Given the description of an element on the screen output the (x, y) to click on. 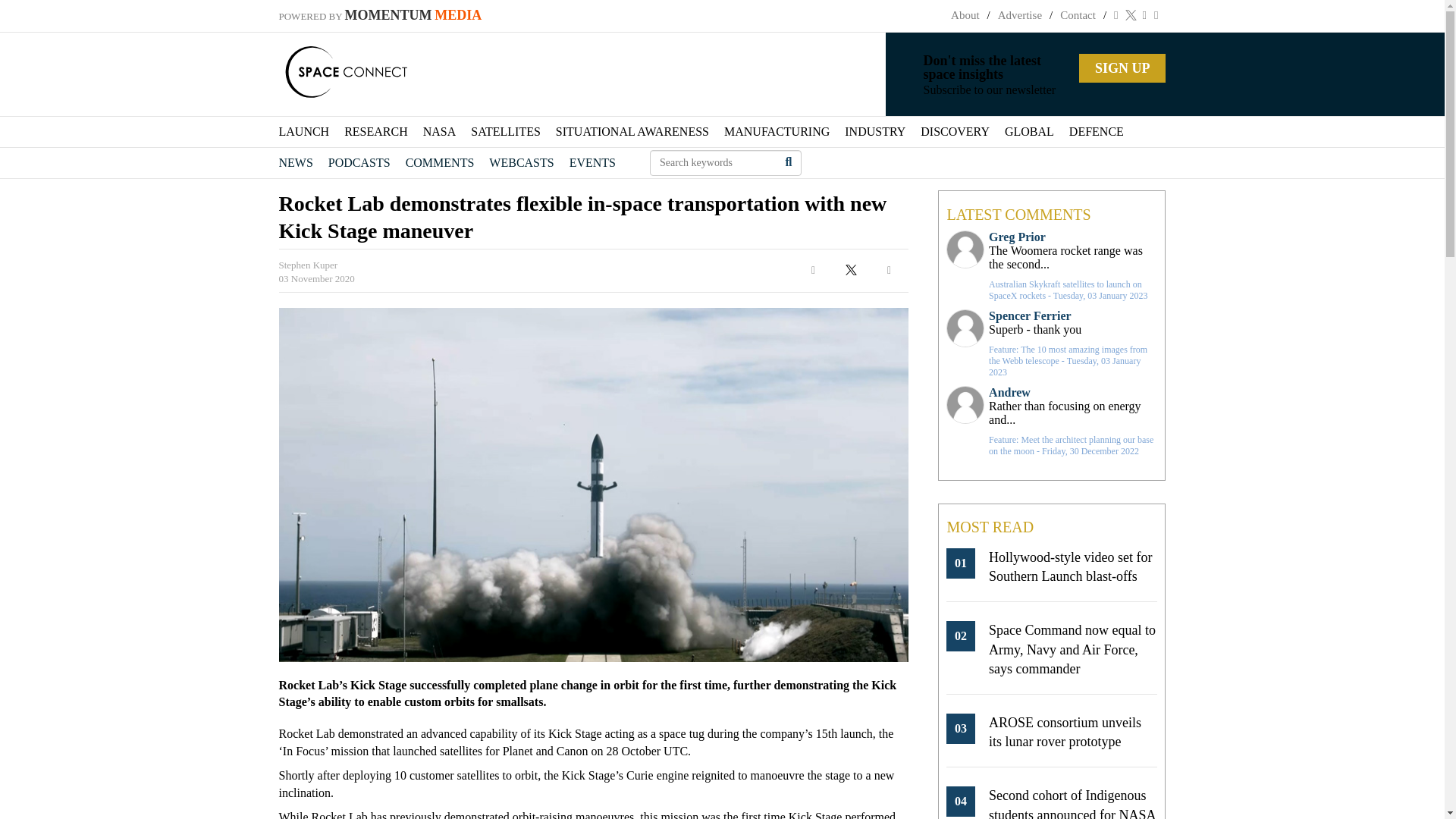
About (964, 15)
Contact (1077, 15)
Advertise (1019, 15)
POWERED BY MOMENTUM MEDIA (380, 15)
